Given the description of an element on the screen output the (x, y) to click on. 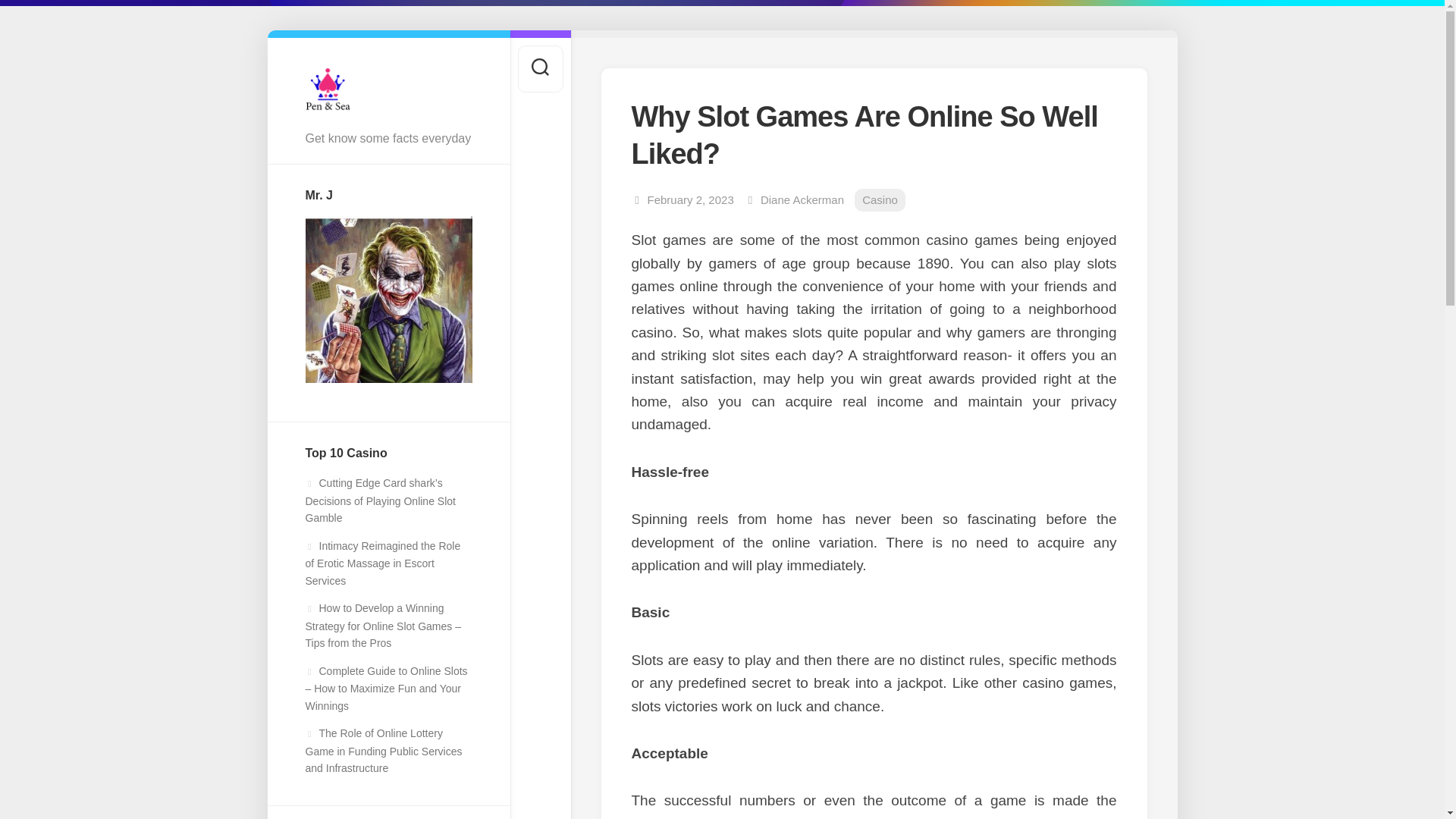
Diane Ackerman (802, 199)
Casino (879, 200)
Posts by Diane Ackerman (802, 199)
